Given the description of an element on the screen output the (x, y) to click on. 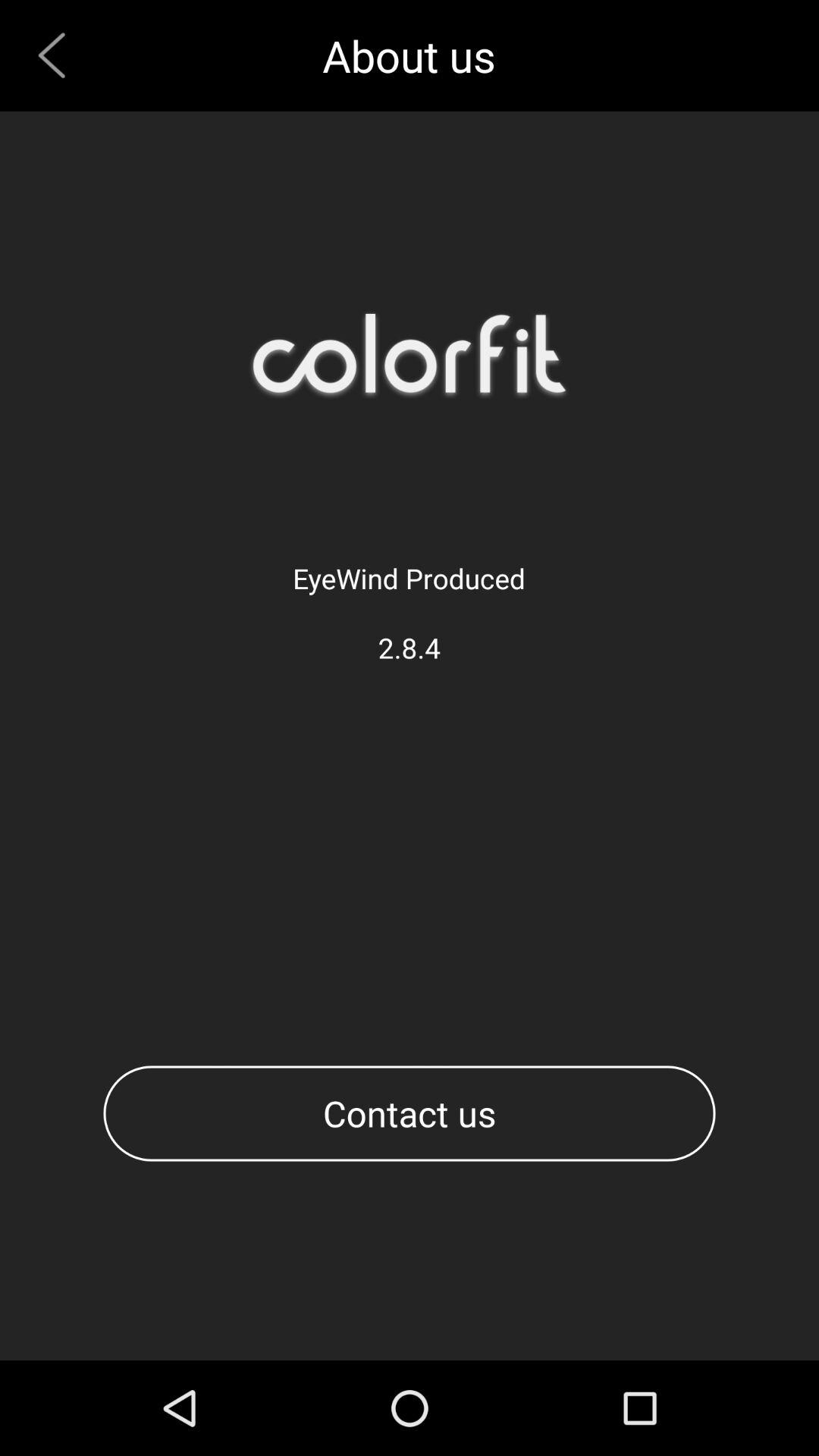
launch the icon at the top left corner (57, 55)
